Given the description of an element on the screen output the (x, y) to click on. 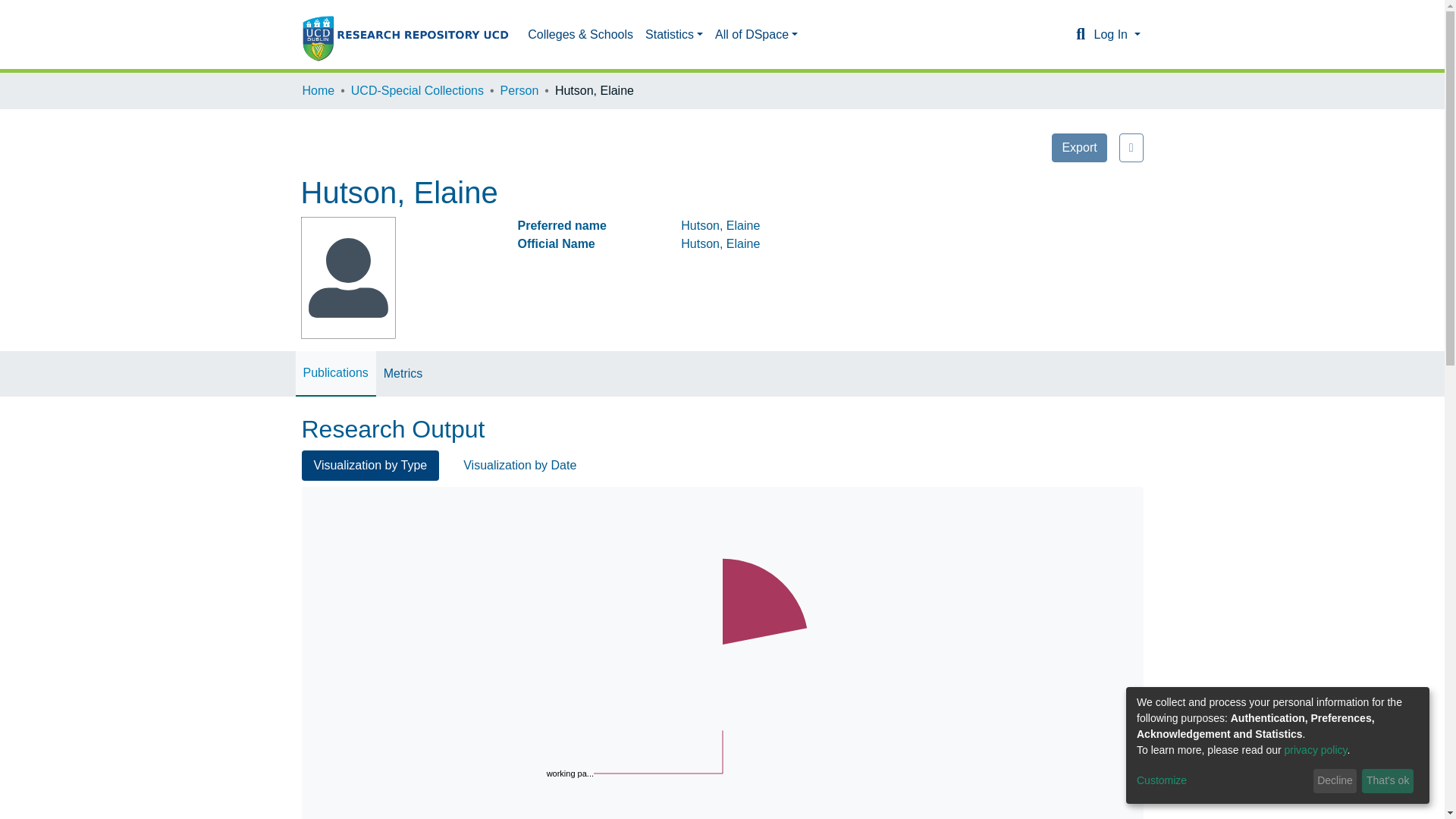
Person (519, 90)
Statistics (674, 34)
Search (1080, 34)
Home (317, 90)
Publications (335, 372)
Metrics (402, 373)
Publications (335, 372)
Metrics (402, 373)
Log In (1116, 33)
Visualization by Date (519, 465)
Export (416, 90)
All of DSpace (1078, 147)
Visualization by Type (756, 34)
